Given the description of an element on the screen output the (x, y) to click on. 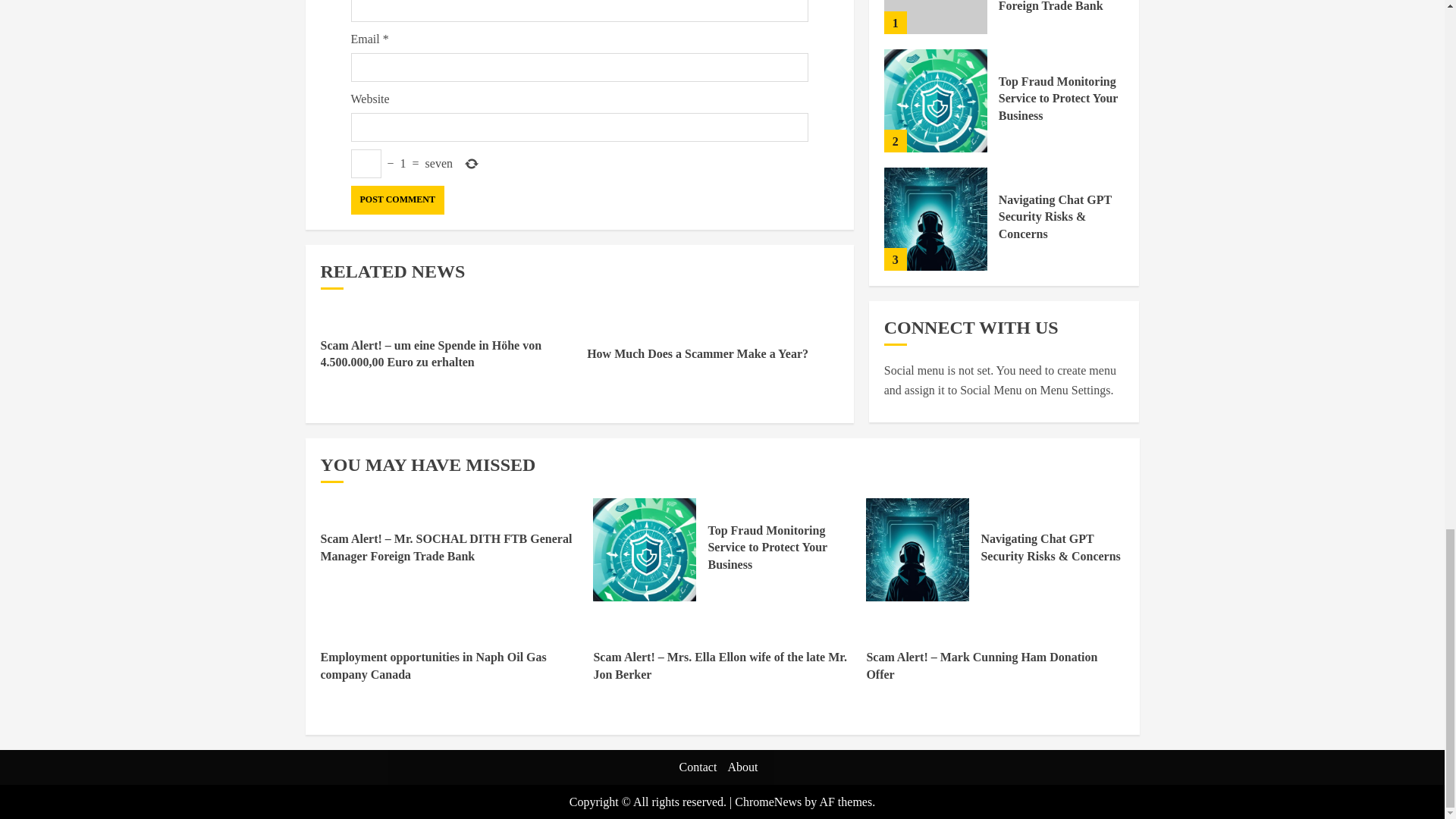
How Much Does a Scammer Make a Year? (697, 354)
Post Comment (397, 199)
Post Comment (397, 199)
